Given the description of an element on the screen output the (x, y) to click on. 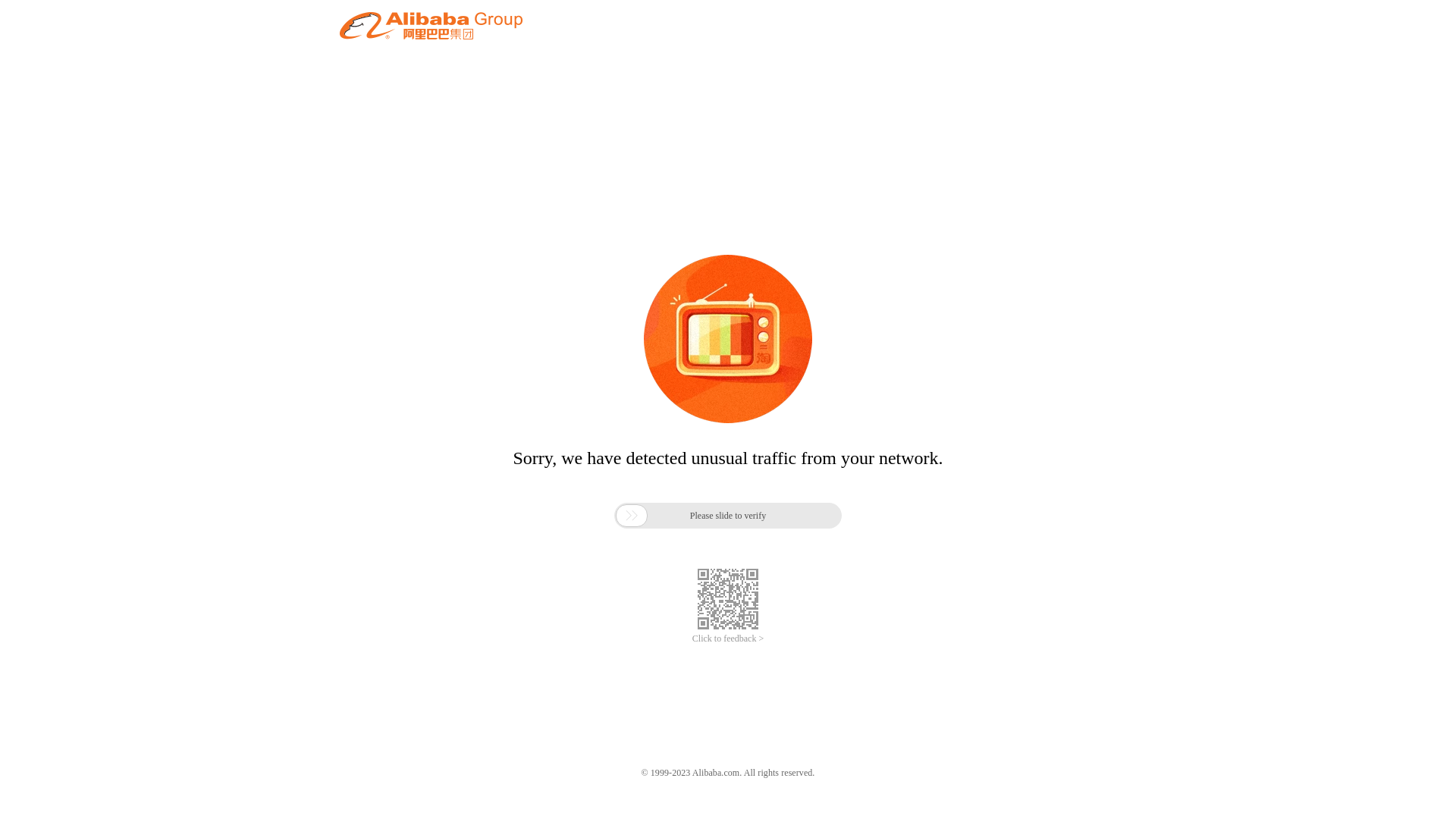
Click to feedback > Element type: text (727, 638)
